Given the description of an element on the screen output the (x, y) to click on. 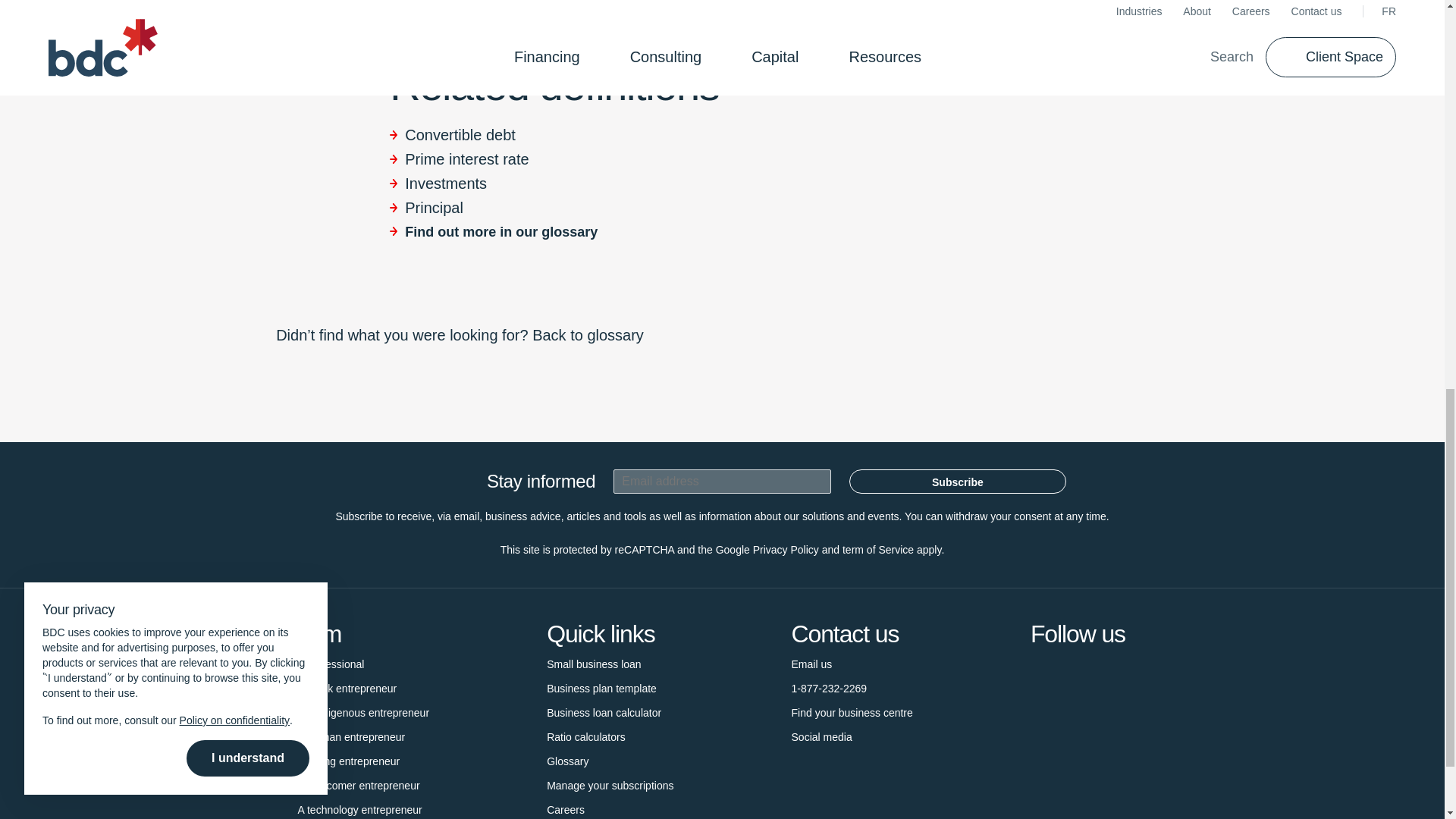
Manage my email subscriptions (609, 785)
Woman entrepreneur (350, 736)
Business dictionary (567, 761)
Social media (821, 736)
Business loan calculator (604, 712)
Young entrepreneur (347, 761)
Technology (359, 808)
Black Entrepreneur (346, 688)
Business centres (852, 712)
Financial tools (586, 736)
